Given the description of an element on the screen output the (x, y) to click on. 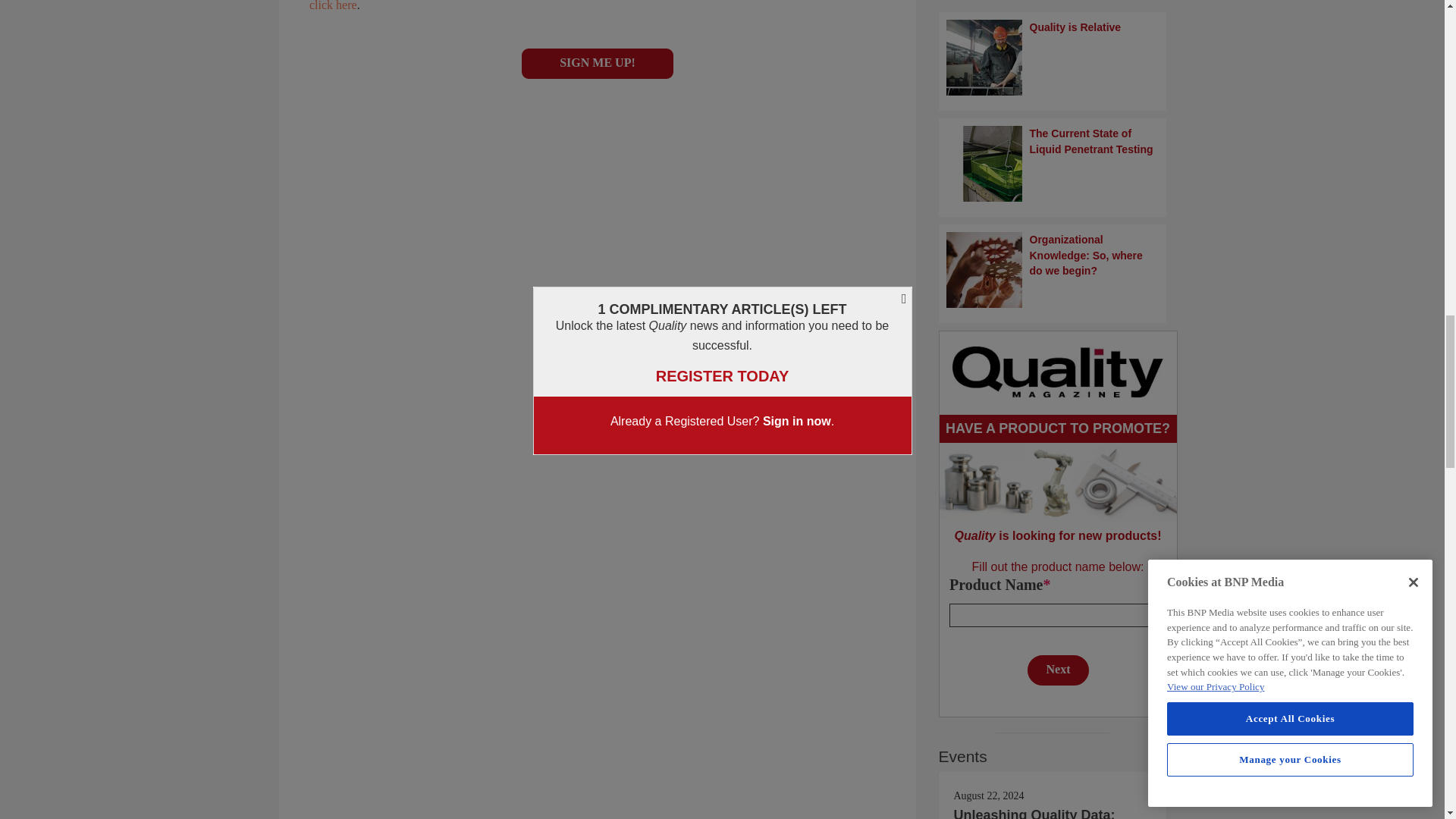
Interaction questions (1058, 629)
Organizational Knowledge: So, where do we begin? (1052, 269)
The Current State of Liquid Penetrant Testing (1052, 163)
Quality is Relative (1052, 57)
Interaction questions (597, 43)
